Given the description of an element on the screen output the (x, y) to click on. 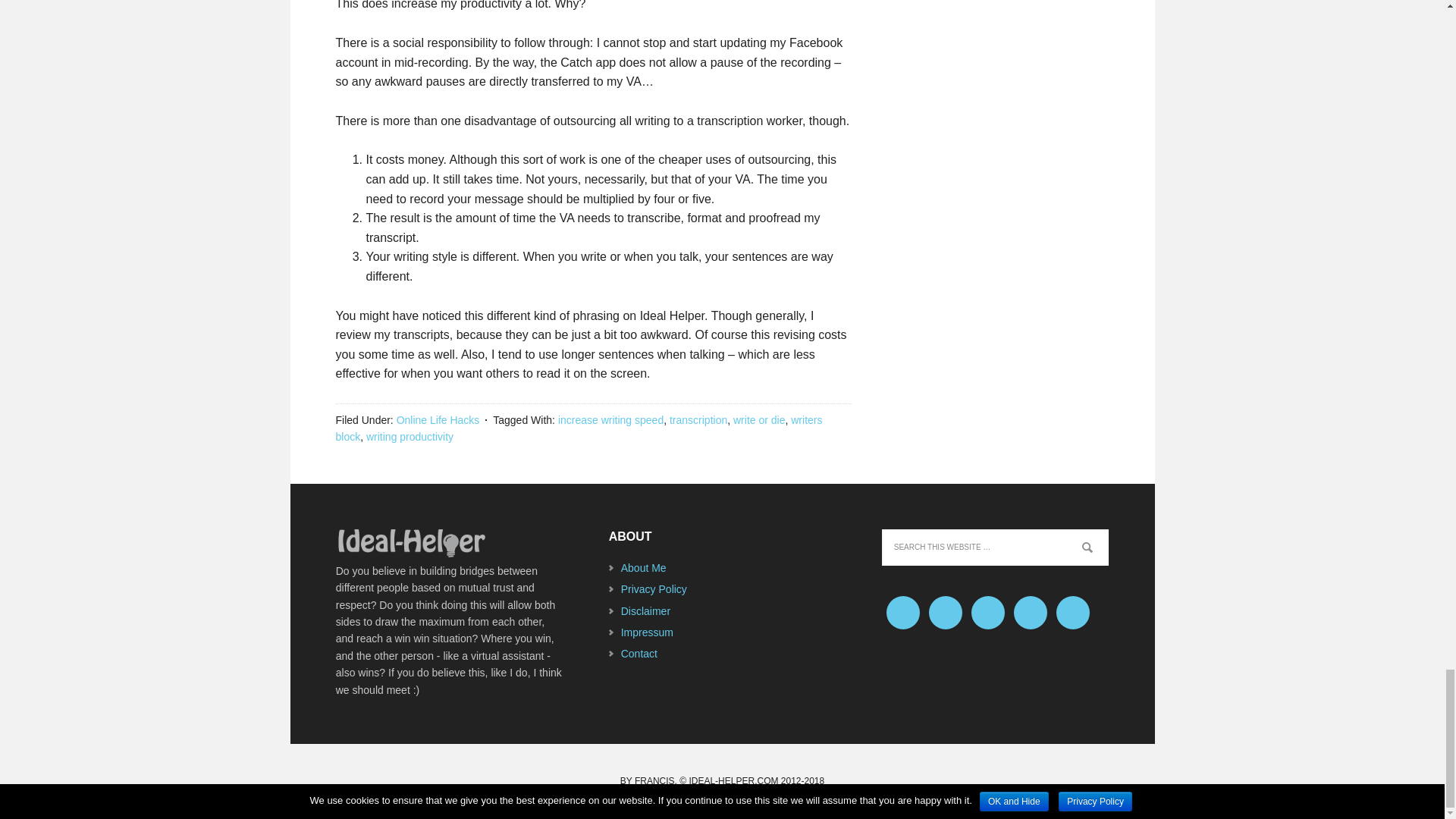
Online Life Hacks (438, 419)
